Given the description of an element on the screen output the (x, y) to click on. 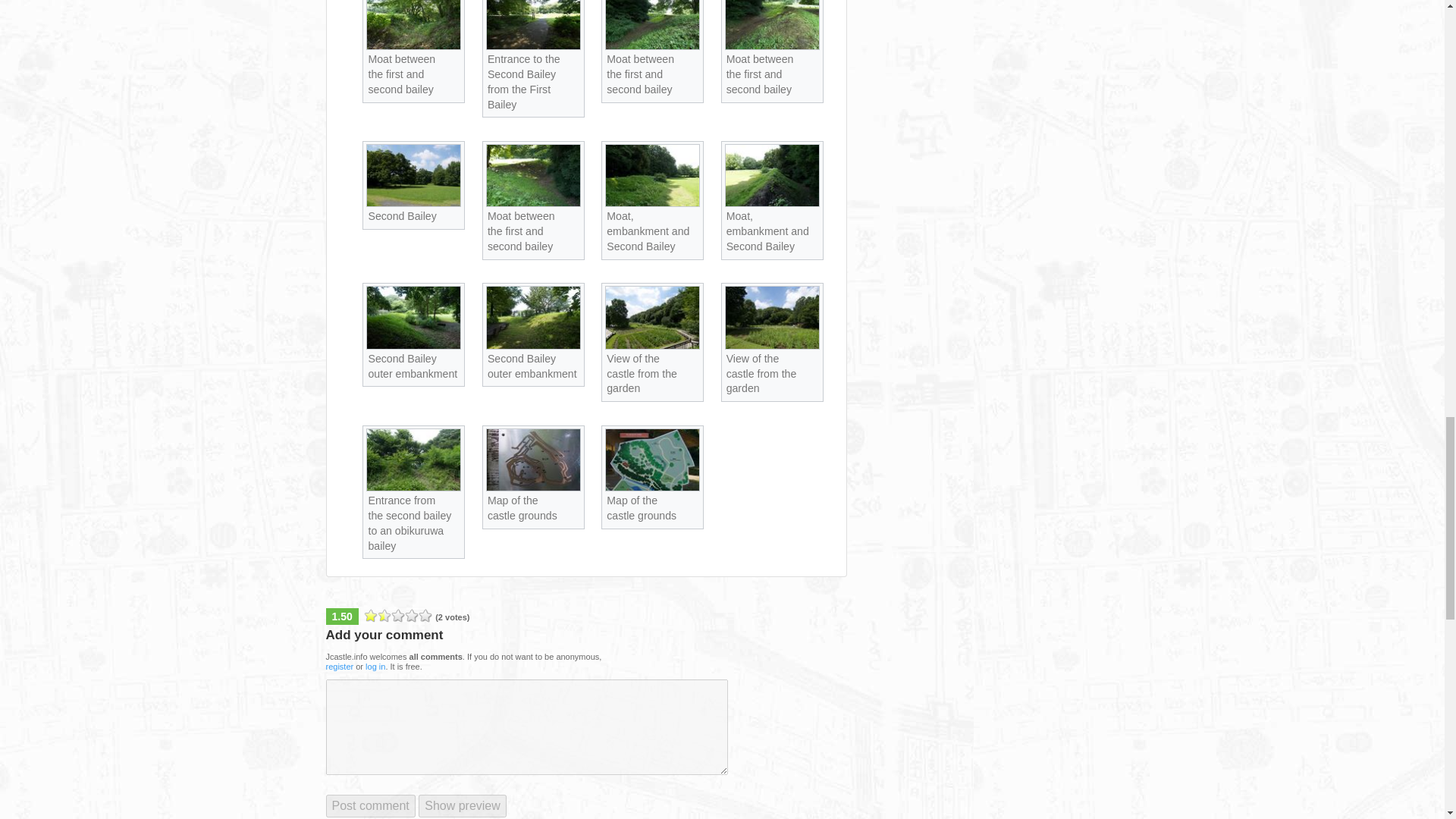
Show preview (462, 805)
Post comment (370, 805)
